Given the description of an element on the screen output the (x, y) to click on. 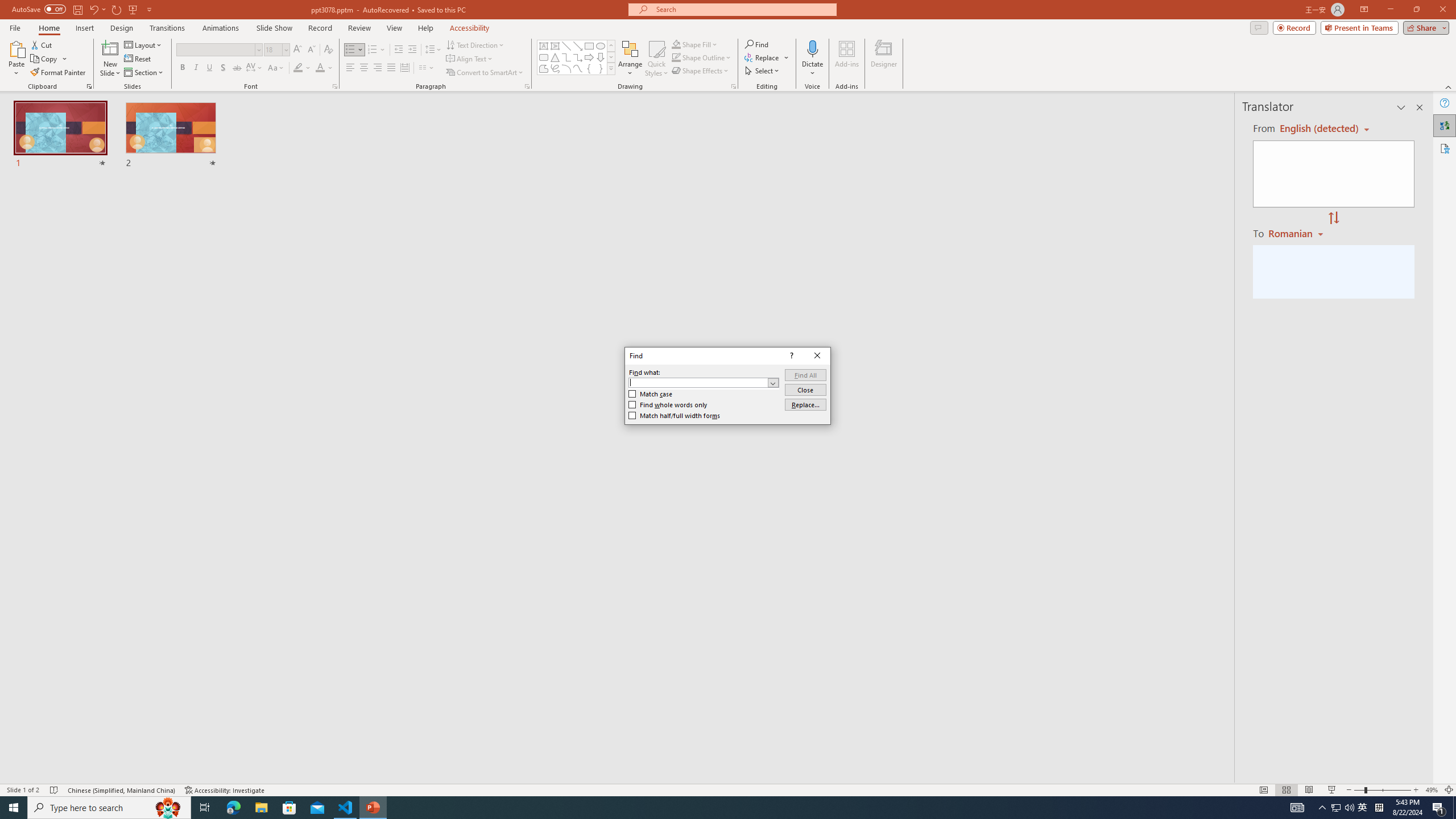
Match case (650, 393)
